Given the description of an element on the screen output the (x, y) to click on. 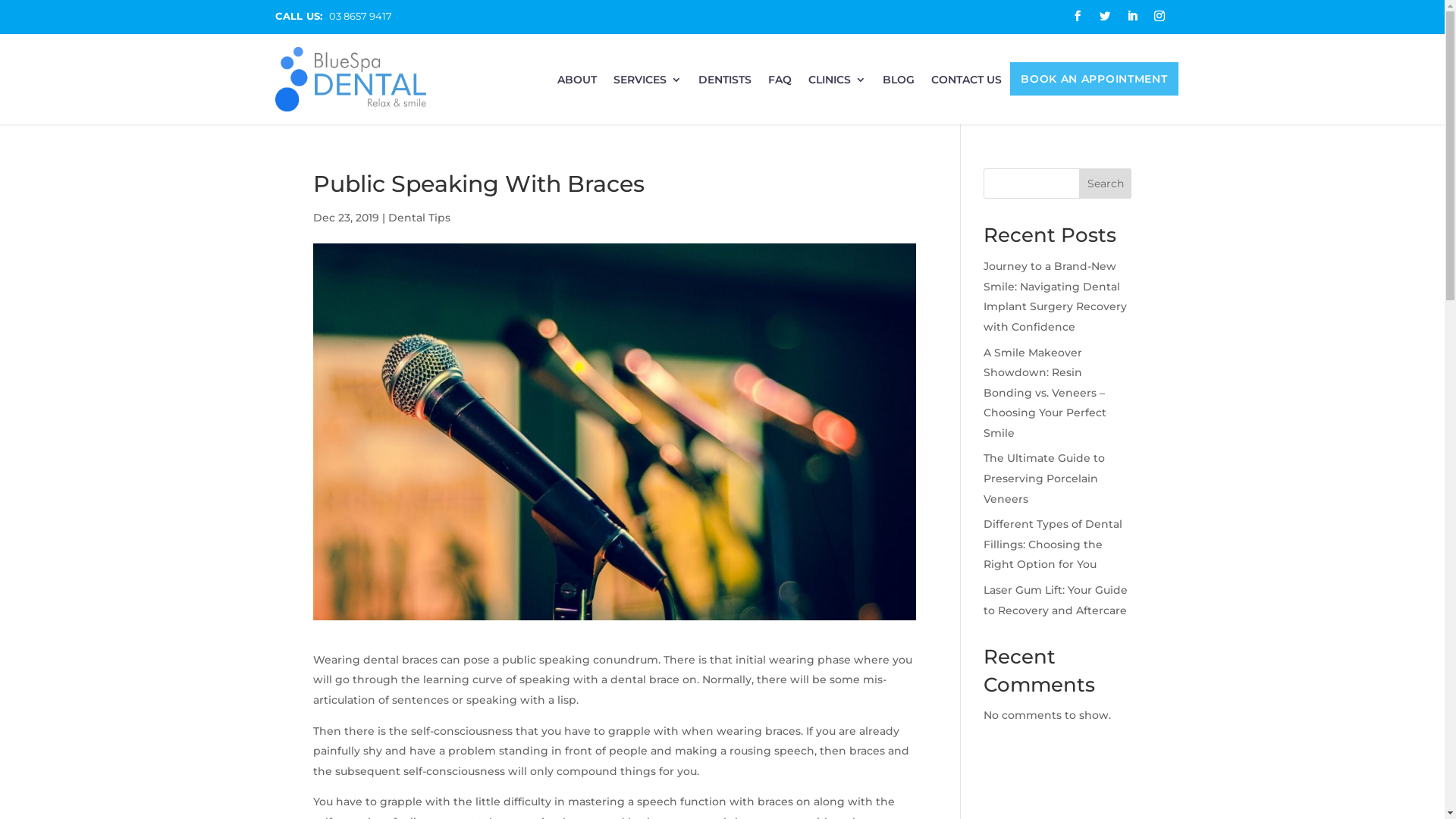
Follow on Twitter Element type: hover (1103, 15)
CLINICS Element type: text (837, 84)
BLOG Element type: text (898, 84)
Search Element type: text (1105, 183)
SERVICES Element type: text (647, 84)
FAQ Element type: text (779, 84)
Dental Tips Element type: text (419, 217)
Follow on LinkedIn Element type: hover (1131, 15)
BlueSpa_logo_improved Element type: hover (349, 78)
ABOUT Element type: text (576, 84)
CONTACT US Element type: text (966, 84)
Follow on Facebook Element type: hover (1076, 15)
Follow on Instagram Element type: hover (1158, 15)
The Ultimate Guide to Preserving Porcelain Veneers Element type: text (1043, 478)
BOOK AN APPOINTMENT Element type: text (1093, 81)
03 8657 9417 Element type: text (360, 15)
DENTISTS Element type: text (724, 84)
Laser Gum Lift: Your Guide to Recovery and Aftercare Element type: text (1055, 600)
